Given the description of an element on the screen output the (x, y) to click on. 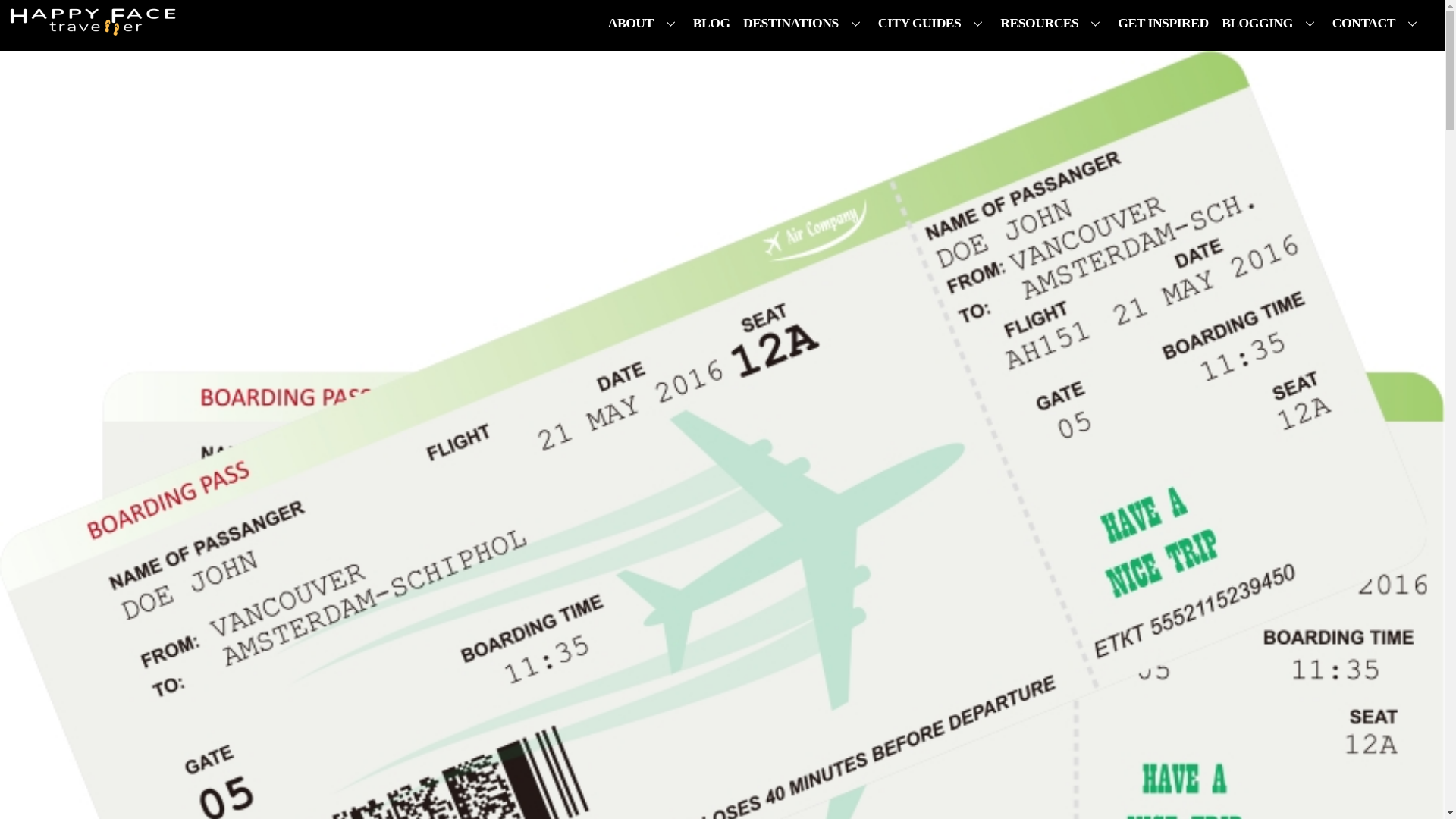
BLOG (711, 22)
RESOURCES (1052, 22)
DESTINATIONS (803, 22)
ABOUT (643, 22)
Happy Face Traveller (93, 27)
CITY GUIDES (931, 22)
